Given the description of an element on the screen output the (x, y) to click on. 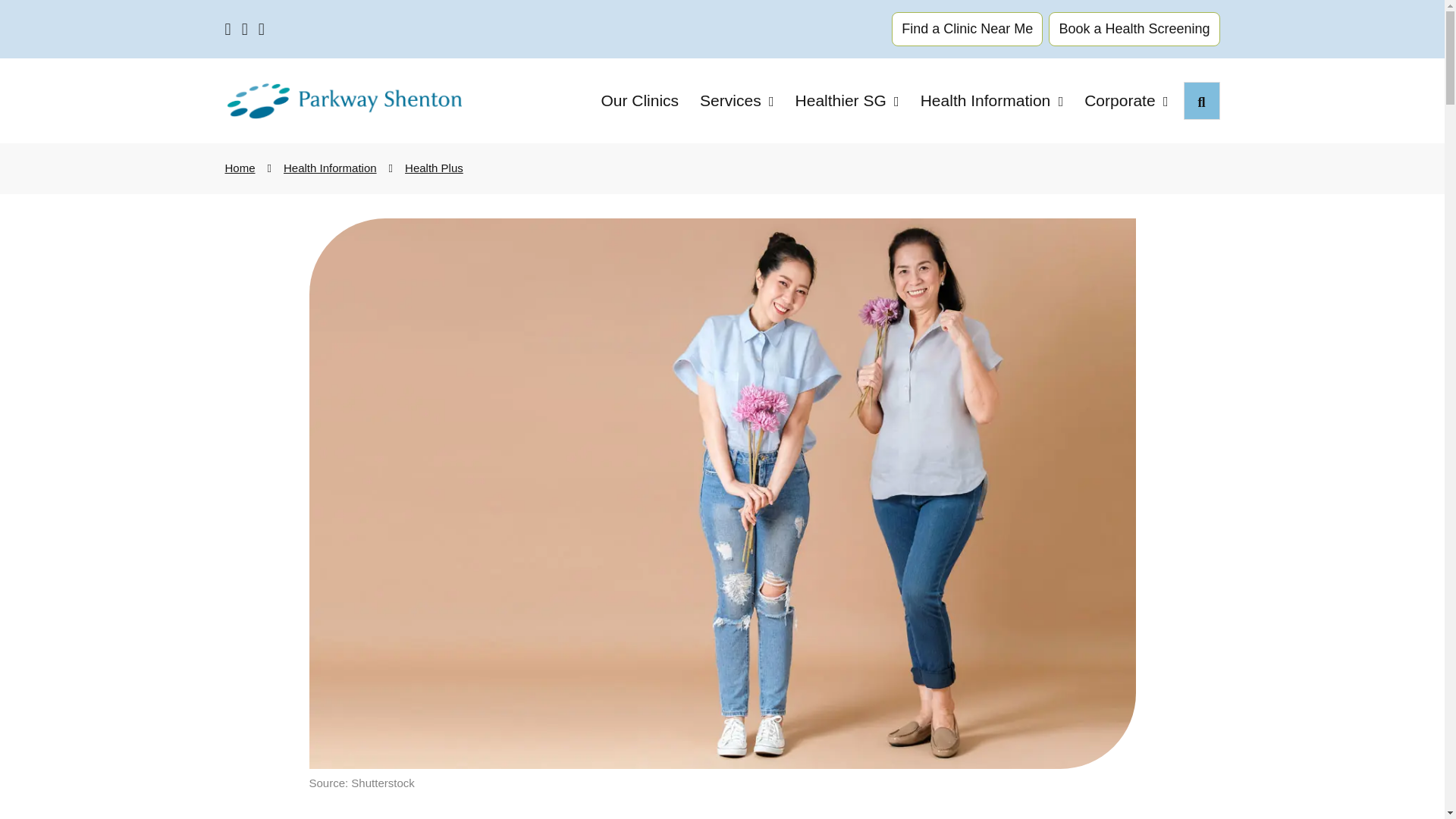
Find a Clinic Near Me (966, 28)
Parkway Shenton Facebook (227, 28)
Book a Health Screening (1134, 28)
Health Plus (433, 167)
Services (736, 101)
Healthier SG (847, 101)
Parkway Shenton Whatsapp (261, 28)
Home (239, 167)
Our Clinics (639, 100)
Corporate (1125, 101)
Parkway Shenton Instagram (244, 28)
Health Information (330, 167)
Health Information (992, 101)
Parkway Shenton (343, 100)
